Given the description of an element on the screen output the (x, y) to click on. 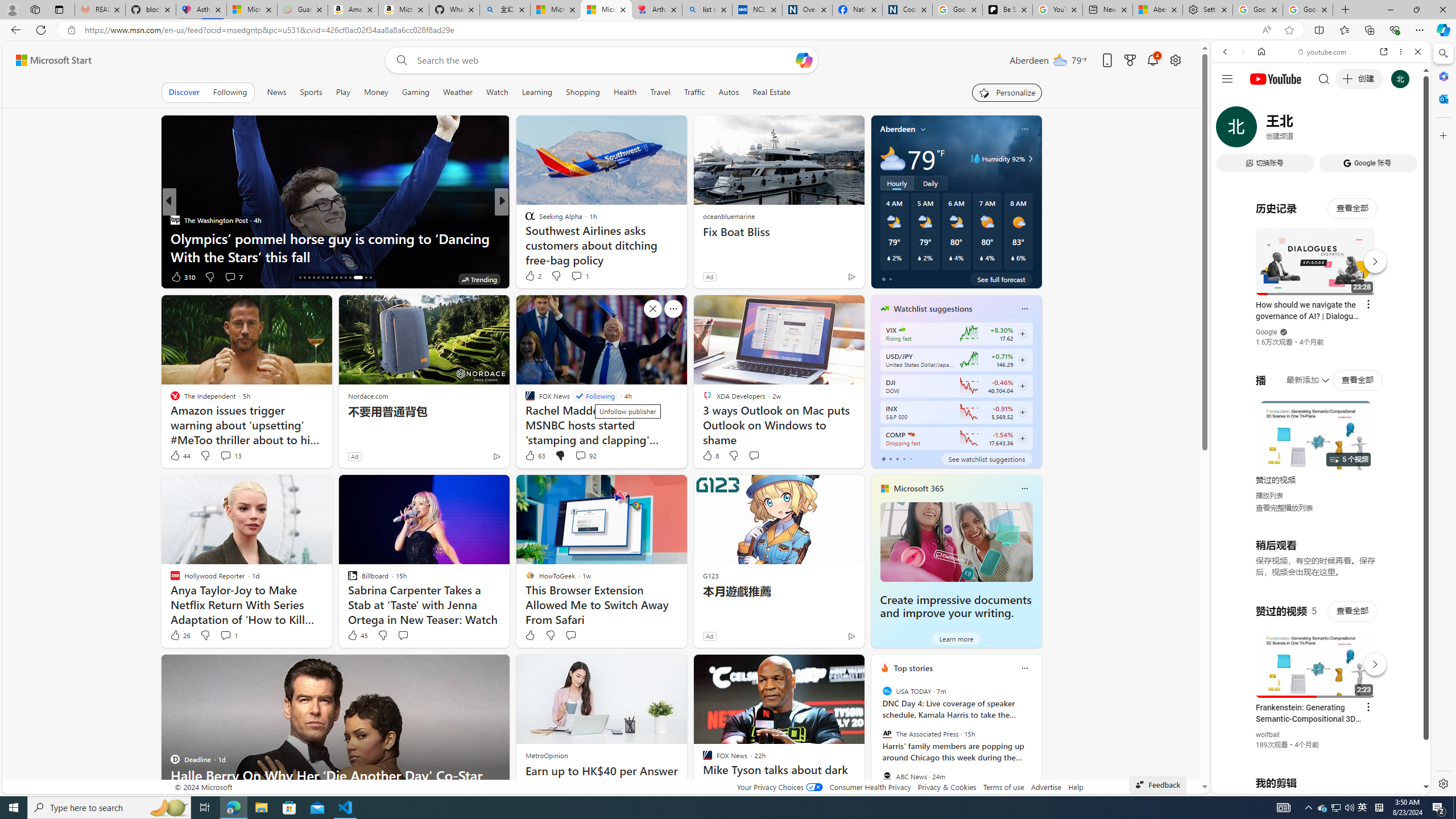
Skip to content (49, 59)
This site scope (1259, 102)
AutomationID: tab-26 (345, 277)
View comments 92 Comment (585, 455)
wolfball (1268, 734)
SEARCH TOOLS (1350, 130)
View comments 3 Comment (229, 276)
Humidity 92% (1028, 158)
Play (342, 92)
